Given the description of an element on the screen output the (x, y) to click on. 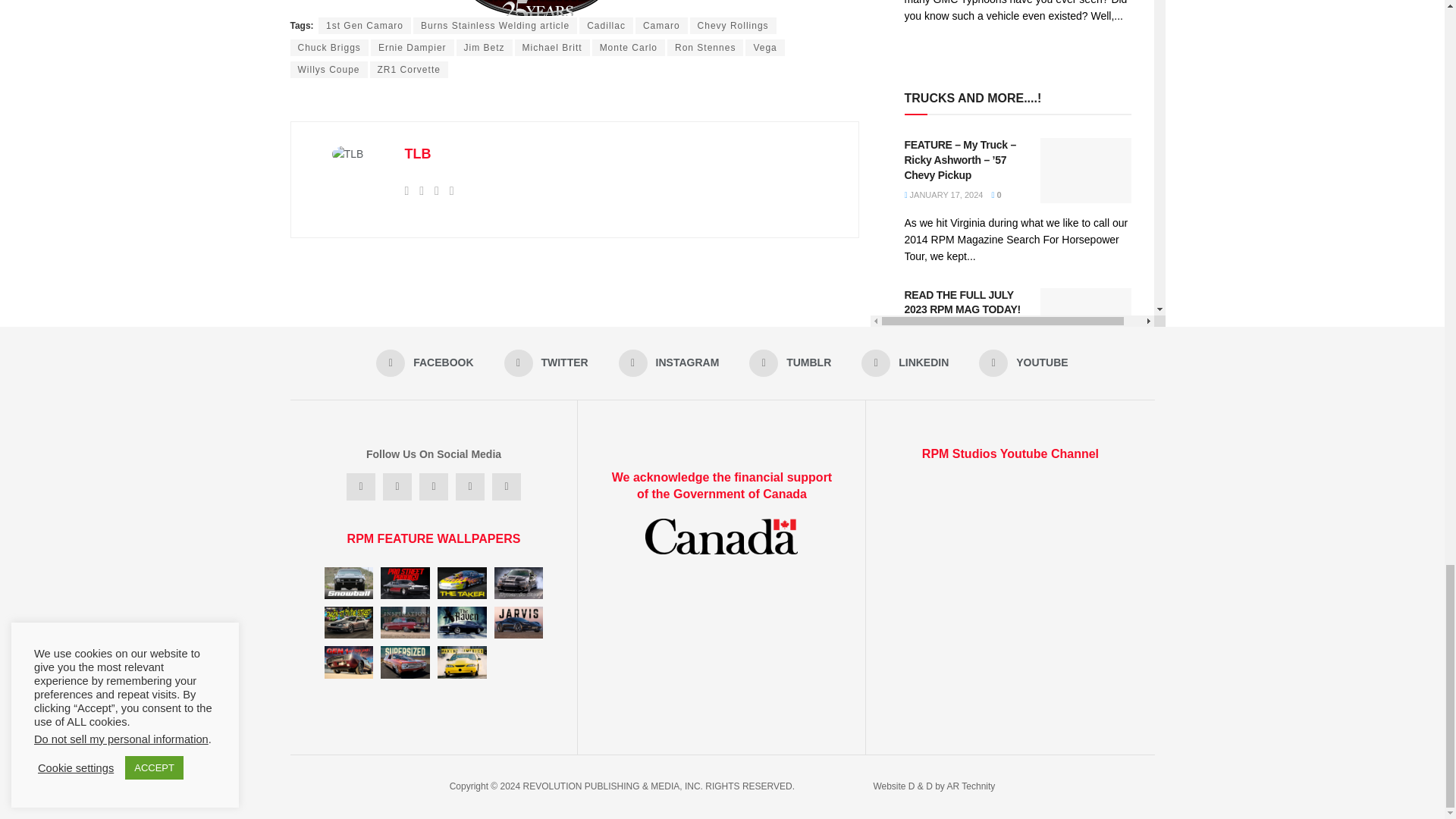
YouTube video player (1010, 566)
